Given the description of an element on the screen output the (x, y) to click on. 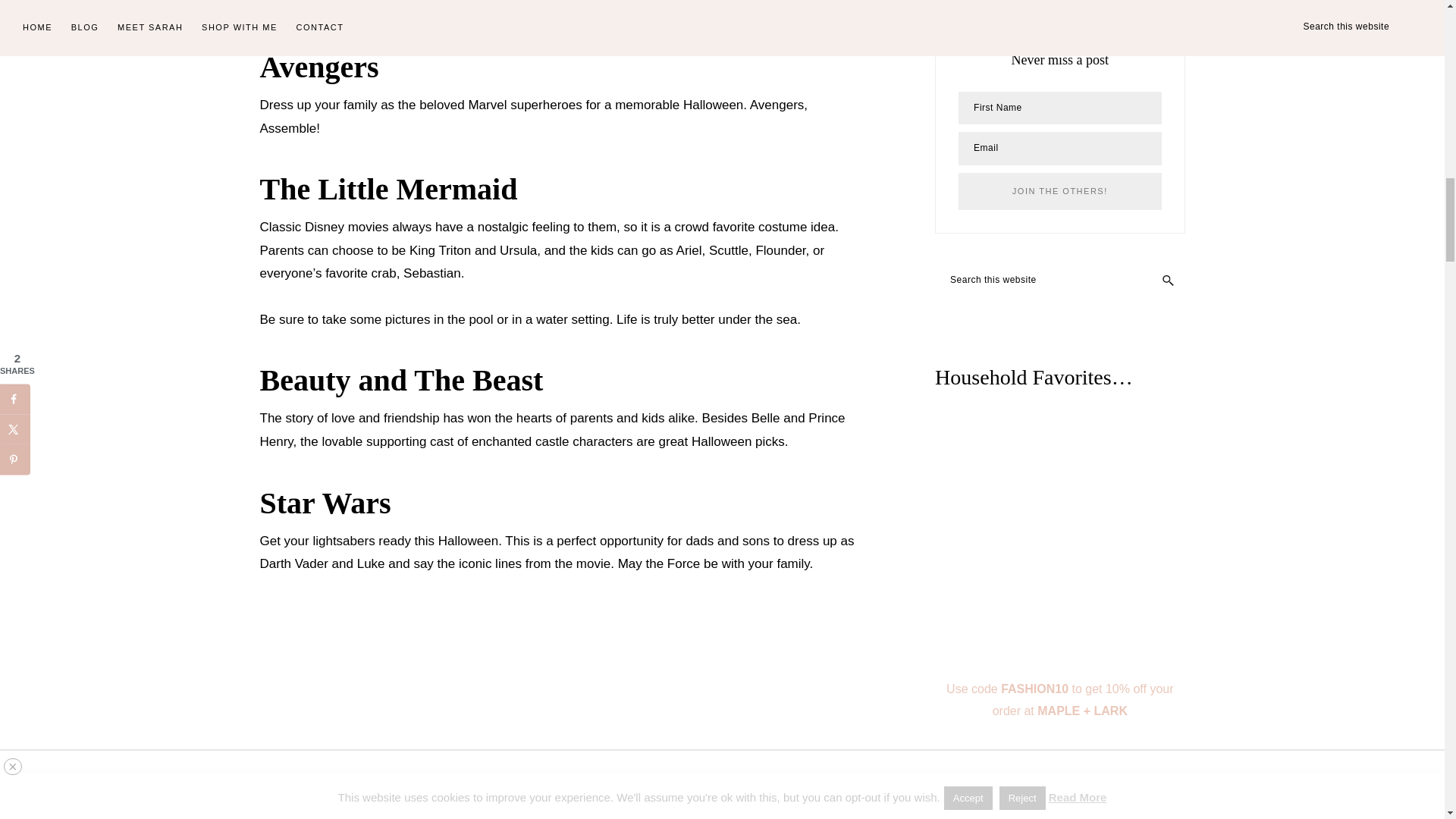
Join the Others! (1059, 190)
